Given the description of an element on the screen output the (x, y) to click on. 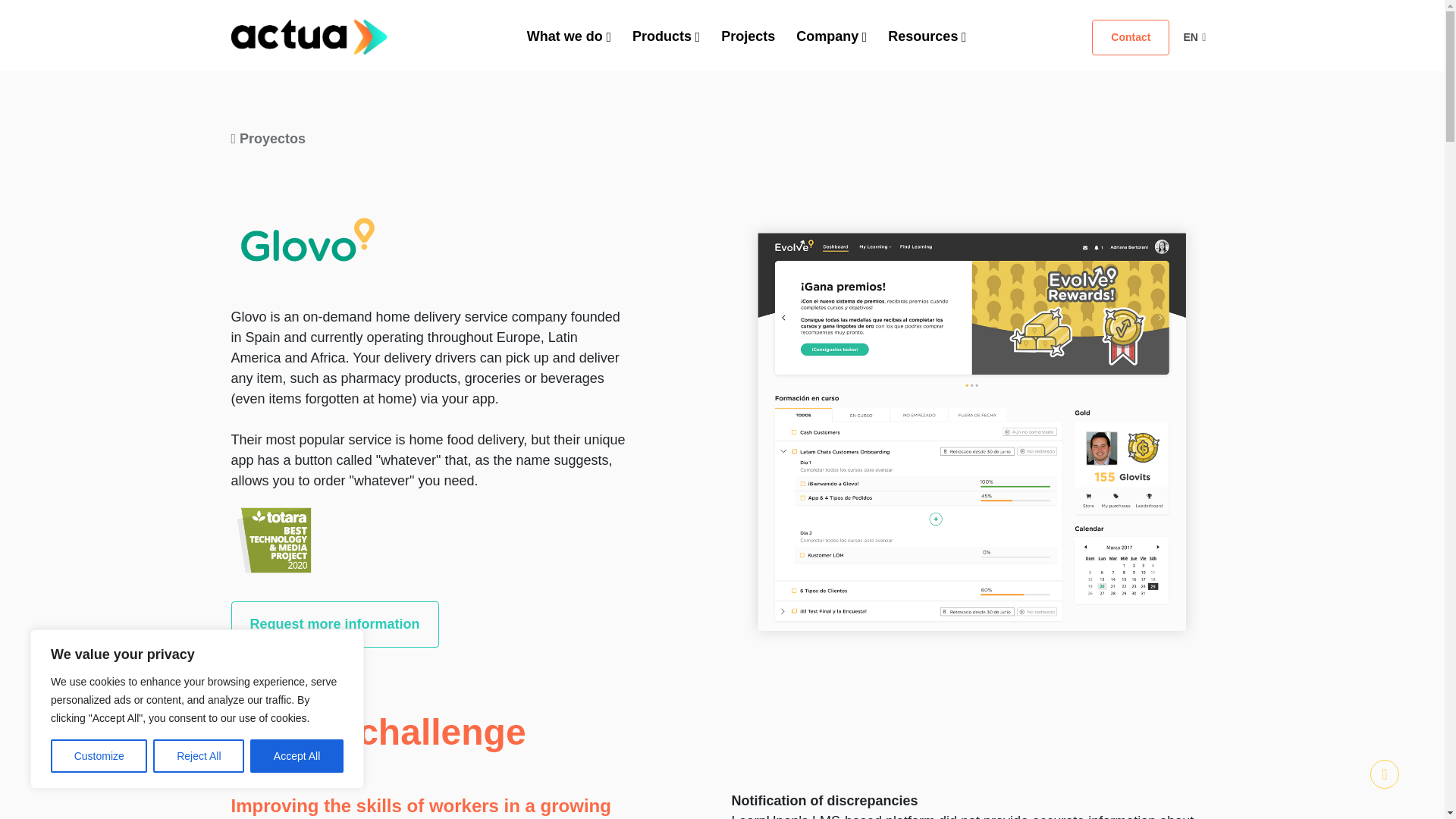
Accept All (296, 756)
Reject All (198, 756)
What we do (568, 36)
Customize (98, 756)
Products (665, 36)
What we do (568, 36)
Products (665, 36)
